Given the description of an element on the screen output the (x, y) to click on. 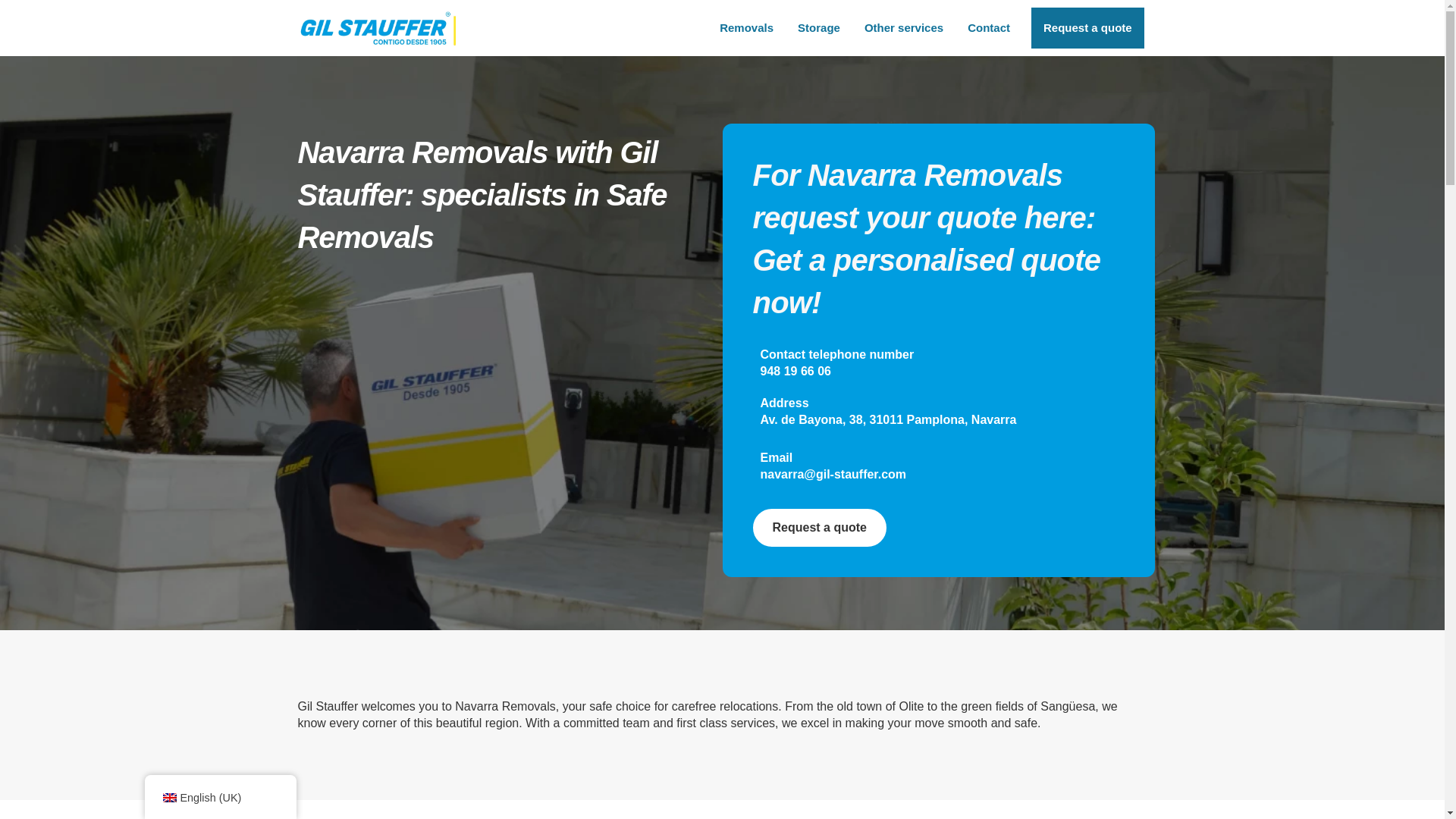
Contact (988, 27)
Request a quote (1087, 27)
Other services (903, 27)
Storage (818, 27)
Removals (746, 27)
